Given the description of an element on the screen output the (x, y) to click on. 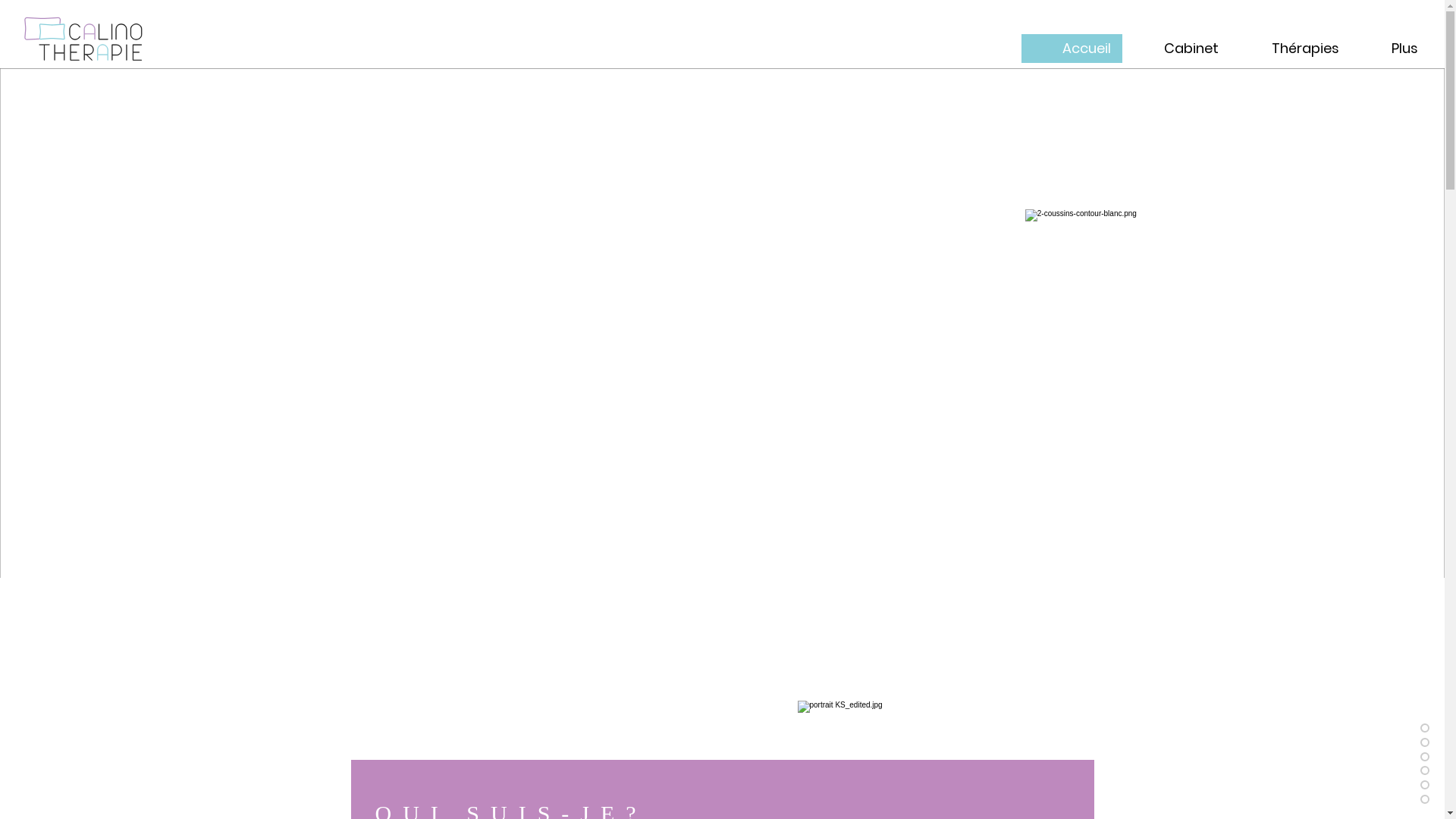
Cabinet Element type: text (1176, 48)
2 coussins.png Element type: hover (1087, 244)
Accueil Element type: text (1071, 48)
